Given the description of an element on the screen output the (x, y) to click on. 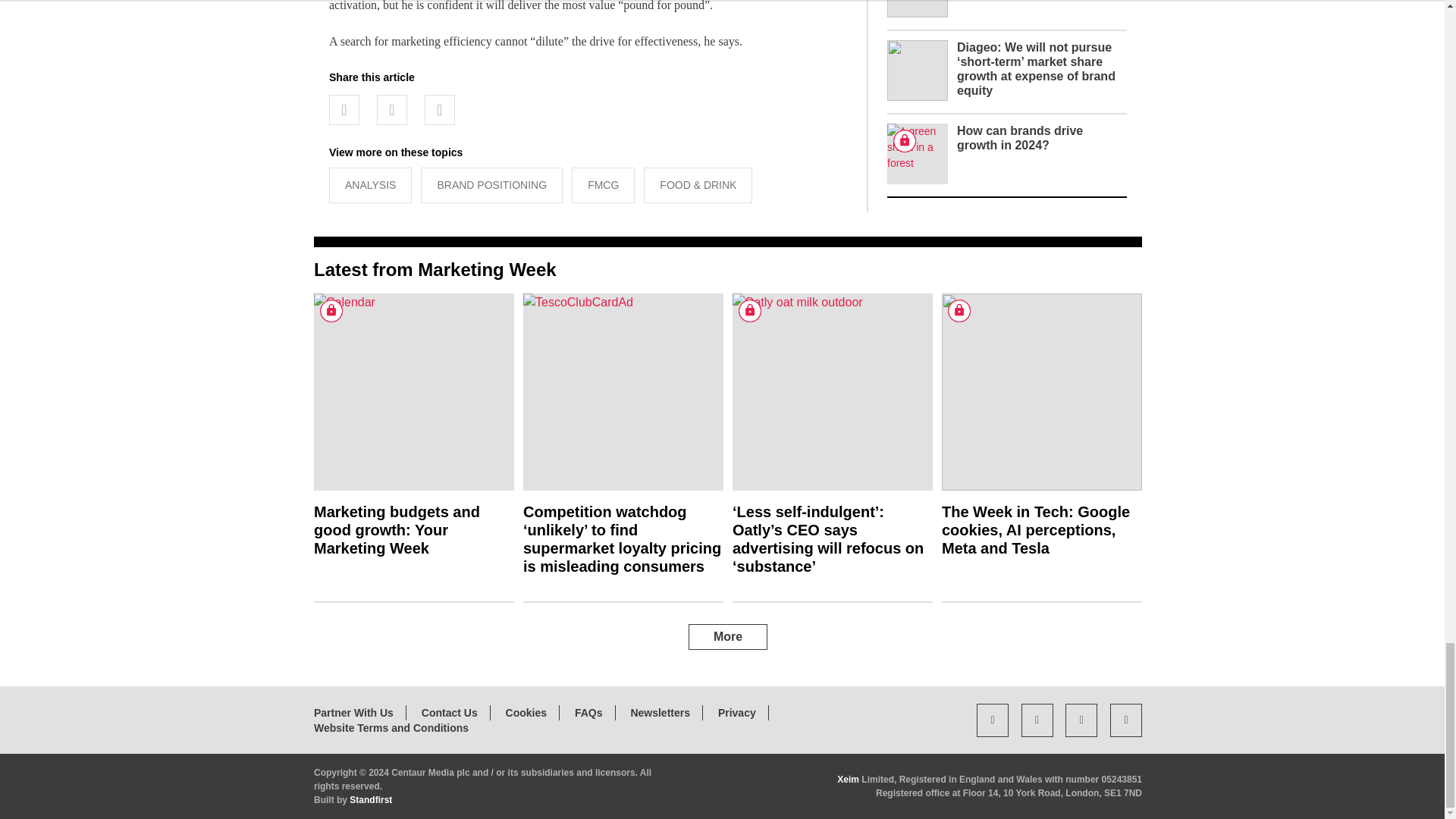
ANALYSIS (370, 185)
BRAND POSITIONING (491, 185)
Privacy (736, 712)
FMCG (603, 185)
